Given the description of an element on the screen output the (x, y) to click on. 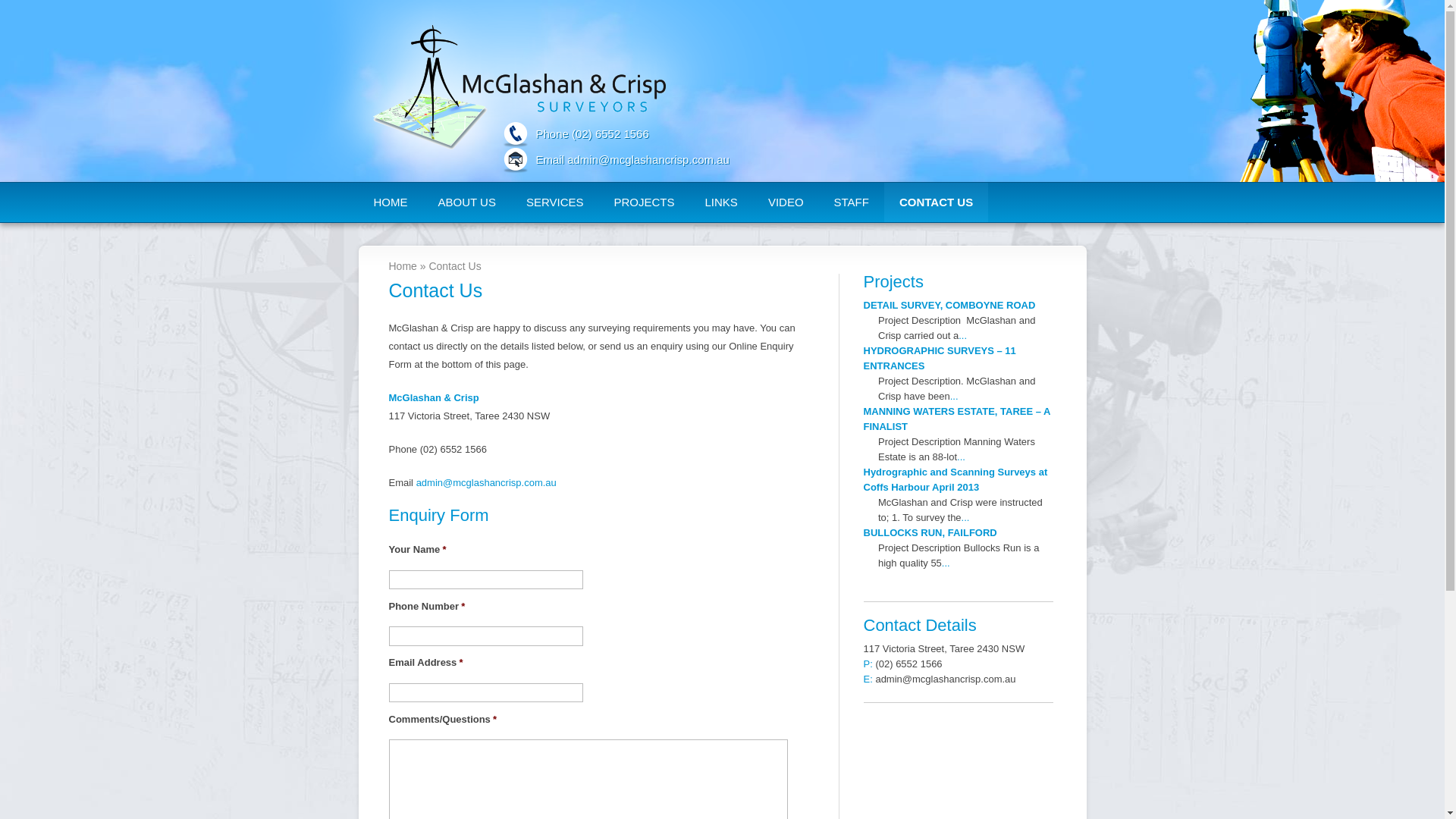
admin@mcglashancrisp.com.au Element type: text (486, 482)
SERVICES Element type: text (555, 202)
... Element type: text (945, 562)
BULLOCKS RUN, FAILFORD Element type: text (929, 532)
... Element type: text (962, 335)
HOME Element type: text (389, 202)
... Element type: text (965, 517)
DETAIL SURVEY, COMBOYNE ROAD Element type: text (948, 304)
STAFF Element type: text (851, 202)
CONTACT US Element type: text (936, 202)
... Element type: text (954, 395)
ABOUT US Element type: text (467, 202)
VIDEO Element type: text (786, 202)
LINKS Element type: text (721, 202)
Home Element type: text (402, 266)
PROJECTS Element type: text (644, 202)
... Element type: text (961, 456)
